Given the description of an element on the screen output the (x, y) to click on. 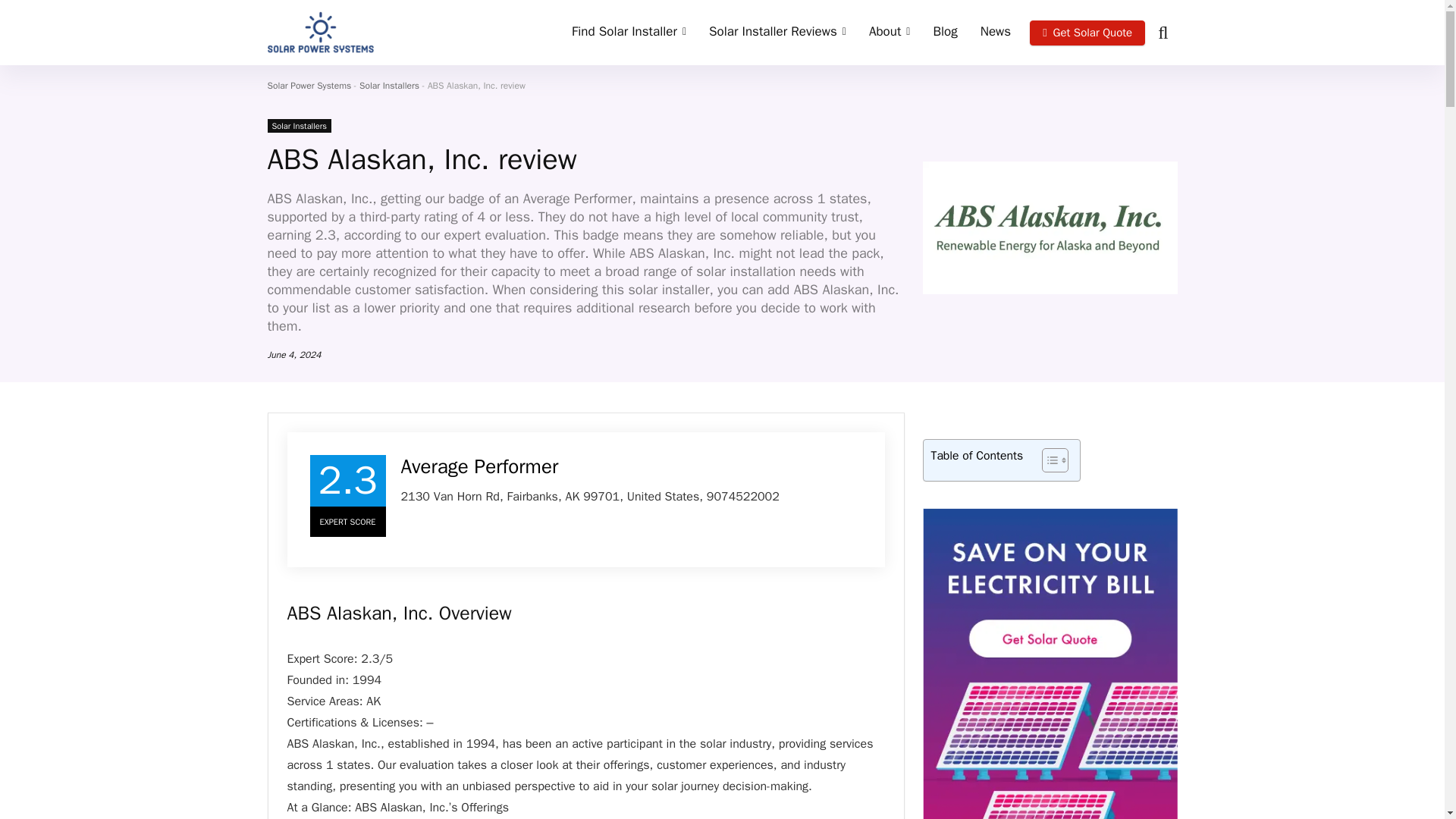
About (889, 32)
View all posts in Solar Installers (298, 125)
Solar Installer Reviews (777, 32)
Blog (944, 32)
News (995, 32)
Find Solar Installer (628, 32)
